Given the description of an element on the screen output the (x, y) to click on. 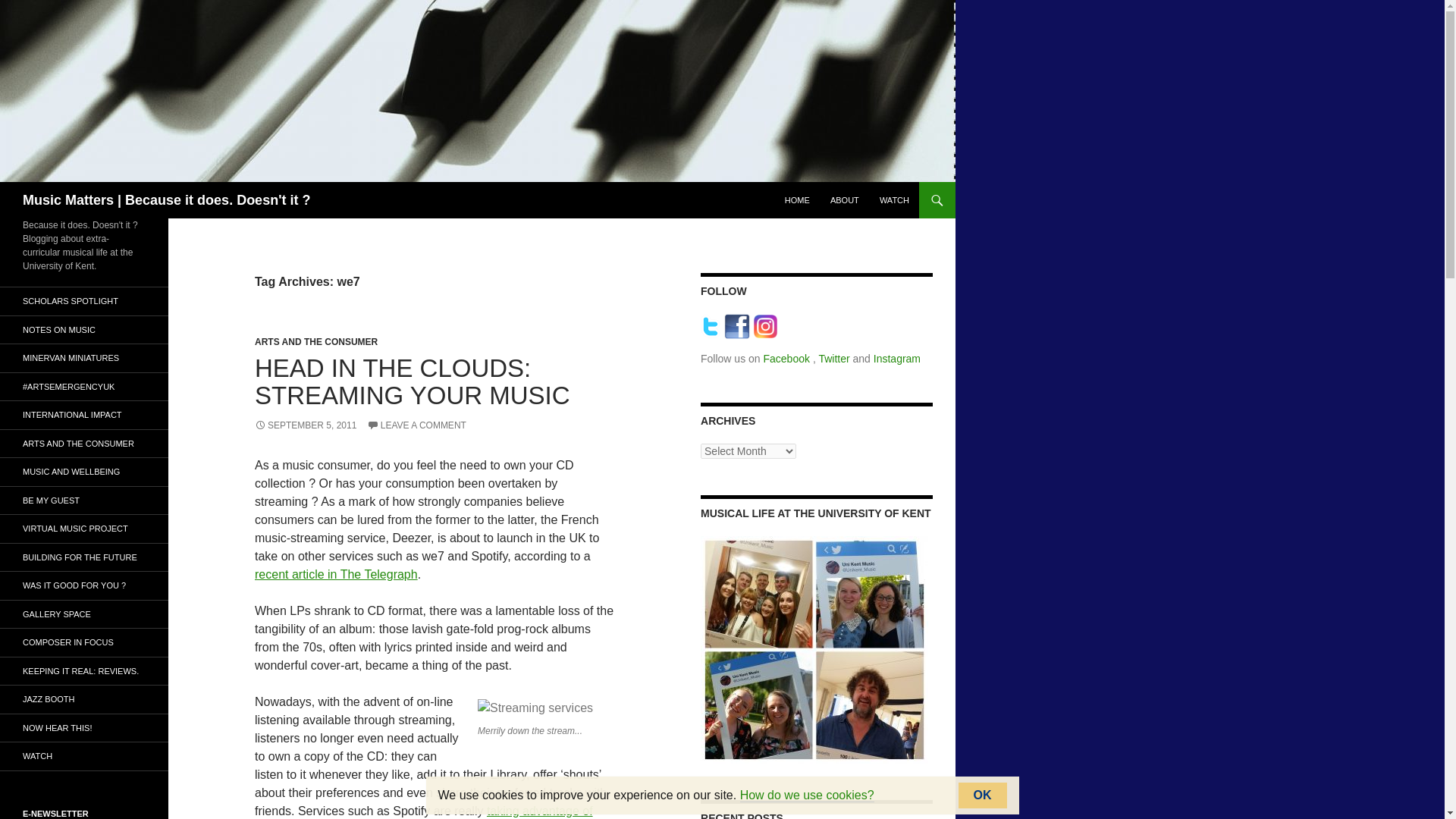
Facebook (787, 358)
HOME (797, 199)
SEPTEMBER 5, 2011 (305, 425)
Spotlight on particular composers (84, 642)
Profiling musical alumni of the University of Kent (84, 585)
WATCH (894, 199)
taking advantage of this (423, 811)
What does it mean for us ? (84, 443)
Reviews of concerts and events (84, 670)
Guest posts and articles (84, 500)
